Given the description of an element on the screen output the (x, y) to click on. 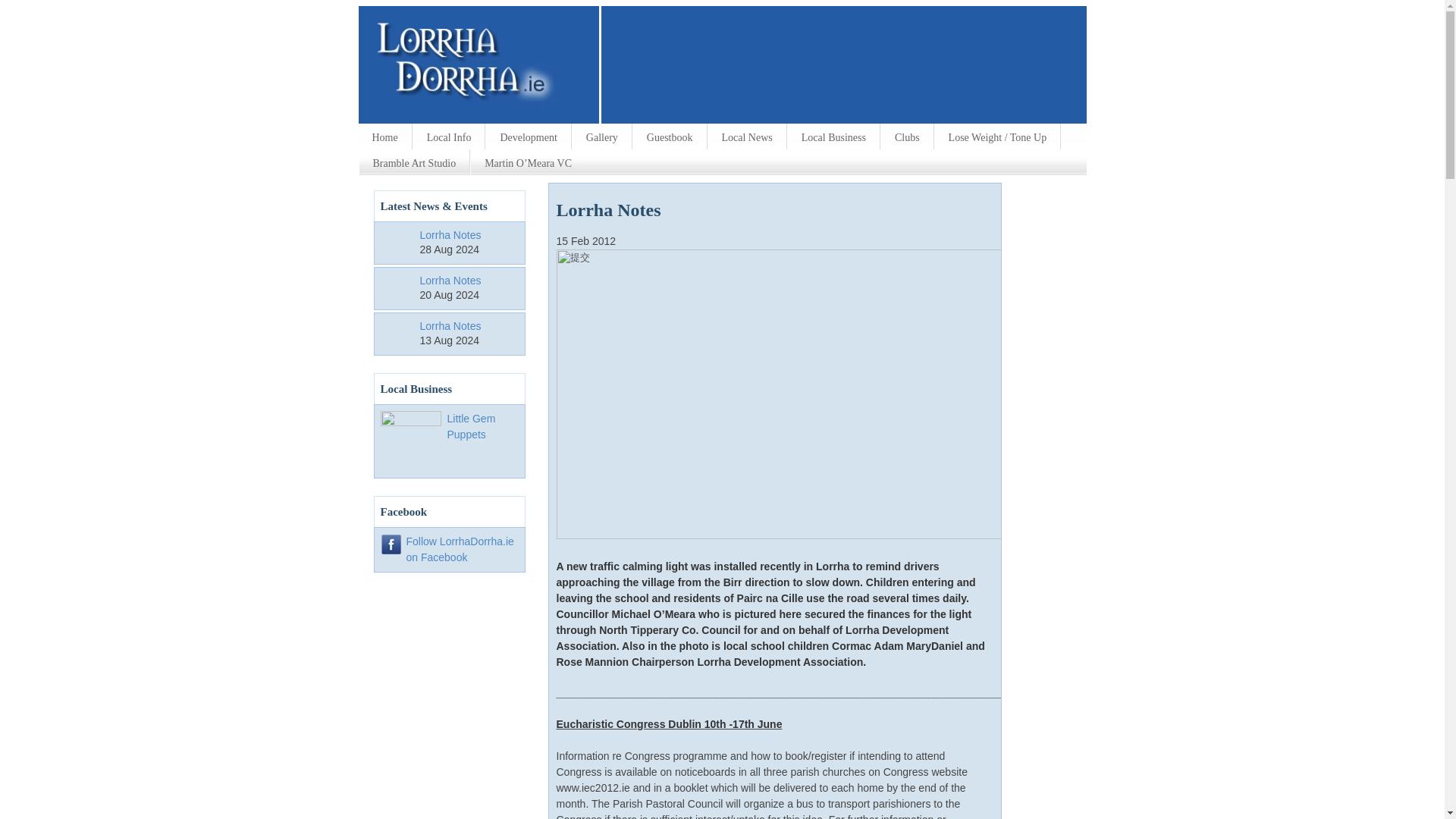
Lorrha Notes (450, 280)
Little Gem Puppets (471, 426)
Development (528, 136)
Clubs (906, 136)
Home (384, 136)
Lorrha Notes (450, 326)
Local Business (833, 136)
Guestbook (669, 136)
Permanent link to Lorrha Notes (450, 234)
Local News (746, 136)
